Given the description of an element on the screen output the (x, y) to click on. 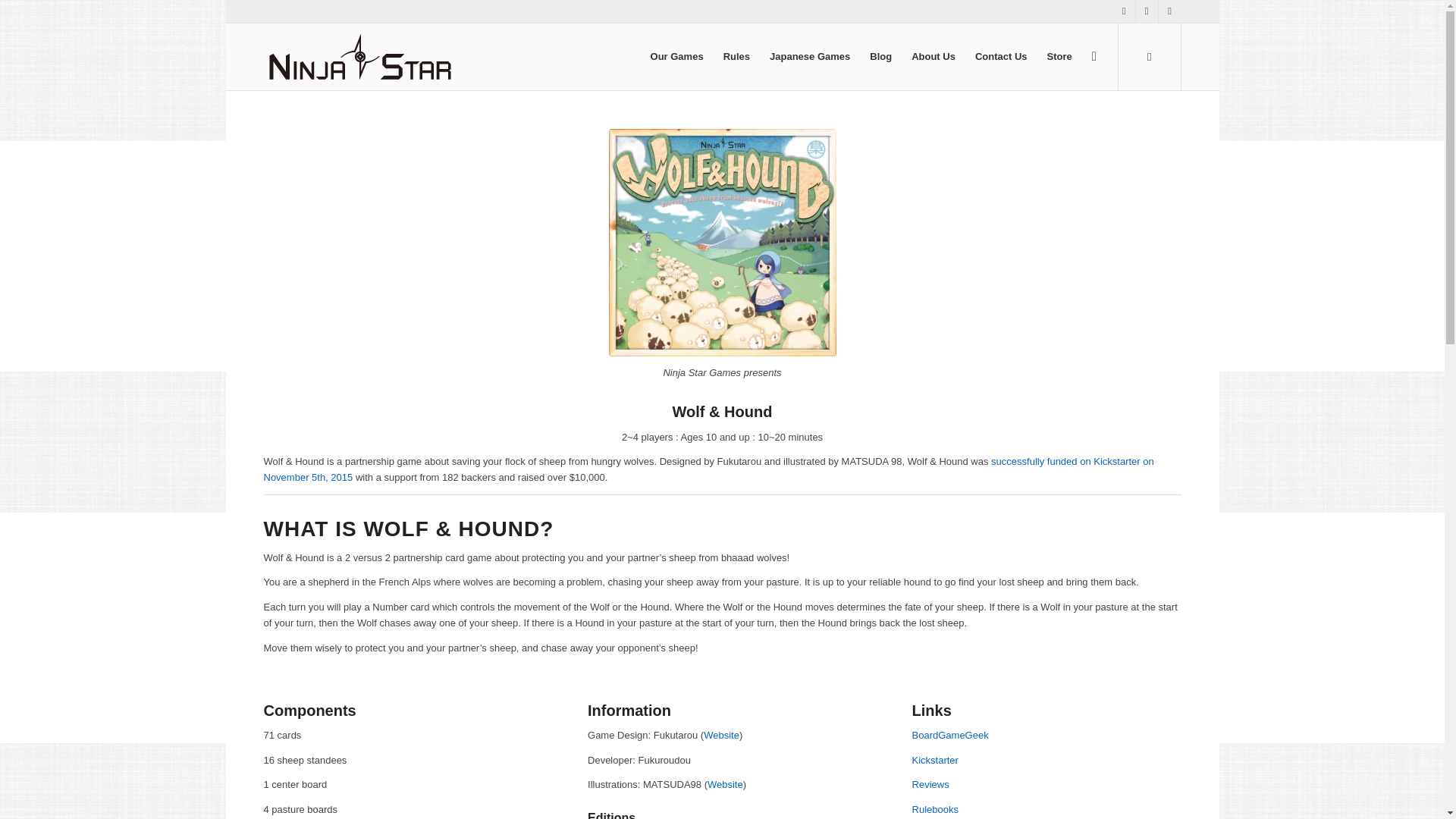
Kickstarter (935, 759)
BoardGameGeek (950, 735)
Ninja Star Logo-small (360, 56)
Japanese Games (810, 56)
Japanese Site (721, 735)
Rulebooks (935, 808)
Website (721, 735)
Our Games (676, 56)
Reviews (930, 784)
Website (724, 784)
